Given the description of an element on the screen output the (x, y) to click on. 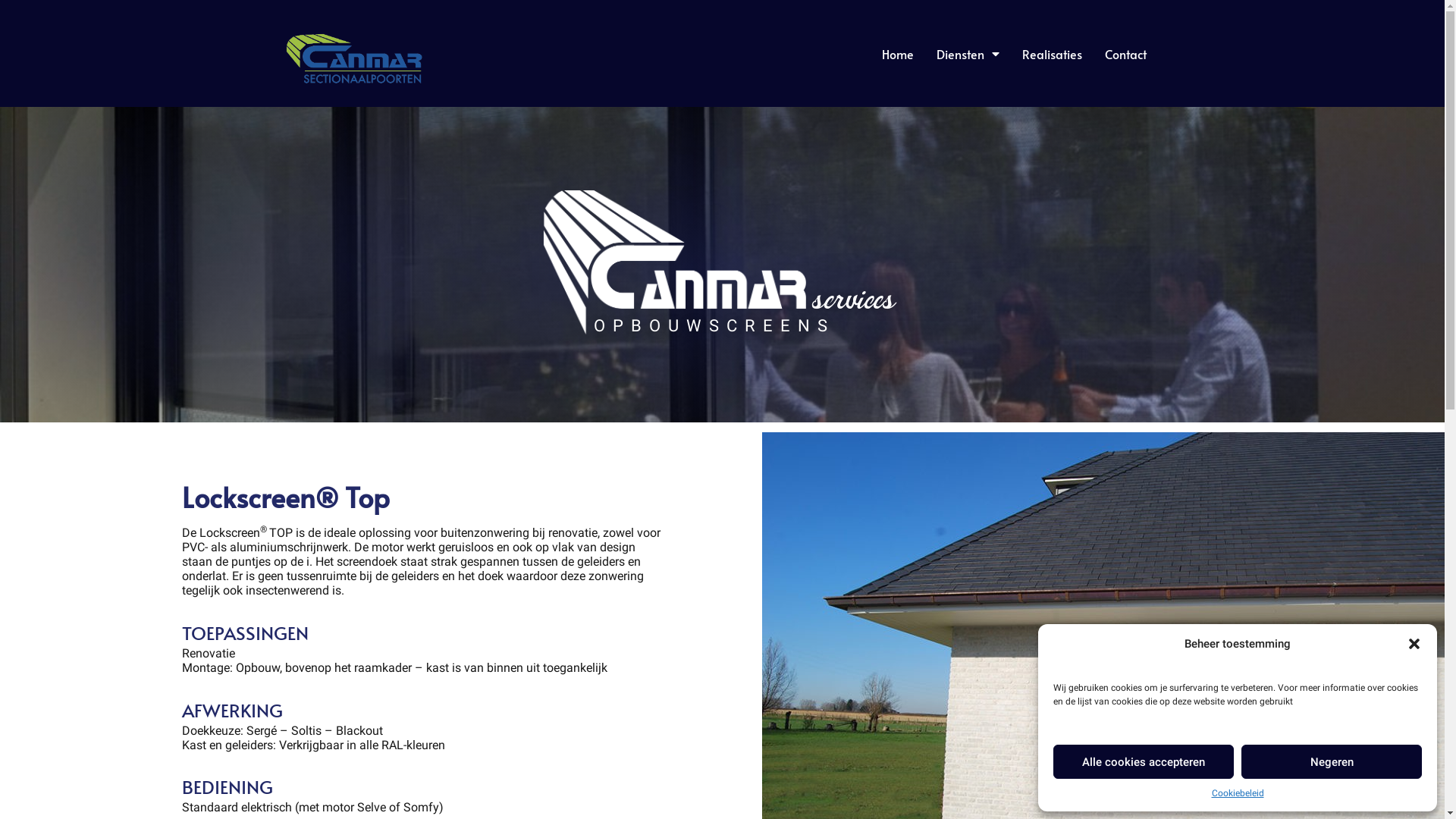
Cookiebeleid Element type: text (1237, 793)
Contact Element type: text (1125, 53)
Home Element type: text (897, 53)
Alle cookies accepteren Element type: text (1143, 761)
Diensten Element type: text (967, 53)
Lockscreen top Canmar BV Element type: hover (672, 262)
Realisaties Element type: text (1052, 53)
Negeren Element type: text (1331, 761)
